Given the description of an element on the screen output the (x, y) to click on. 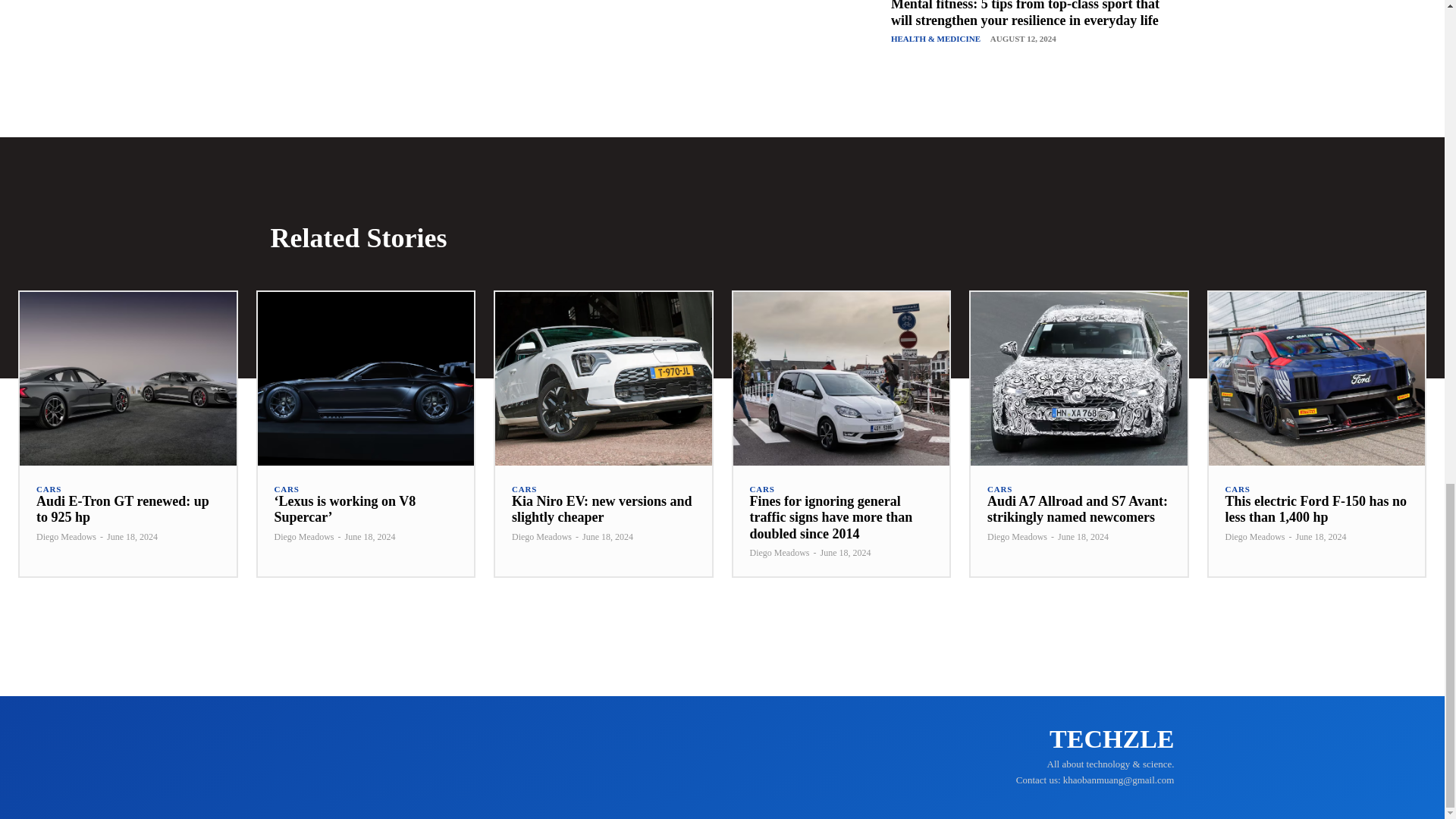
Audi E-Tron GT renewed: up to 925 hp (122, 509)
Kia Niro EV: new versions and slightly cheaper (602, 509)
Audi E-Tron GT renewed: up to 925 hp (127, 378)
Kia Niro EV: new versions and slightly cheaper (603, 378)
